Given the description of an element on the screen output the (x, y) to click on. 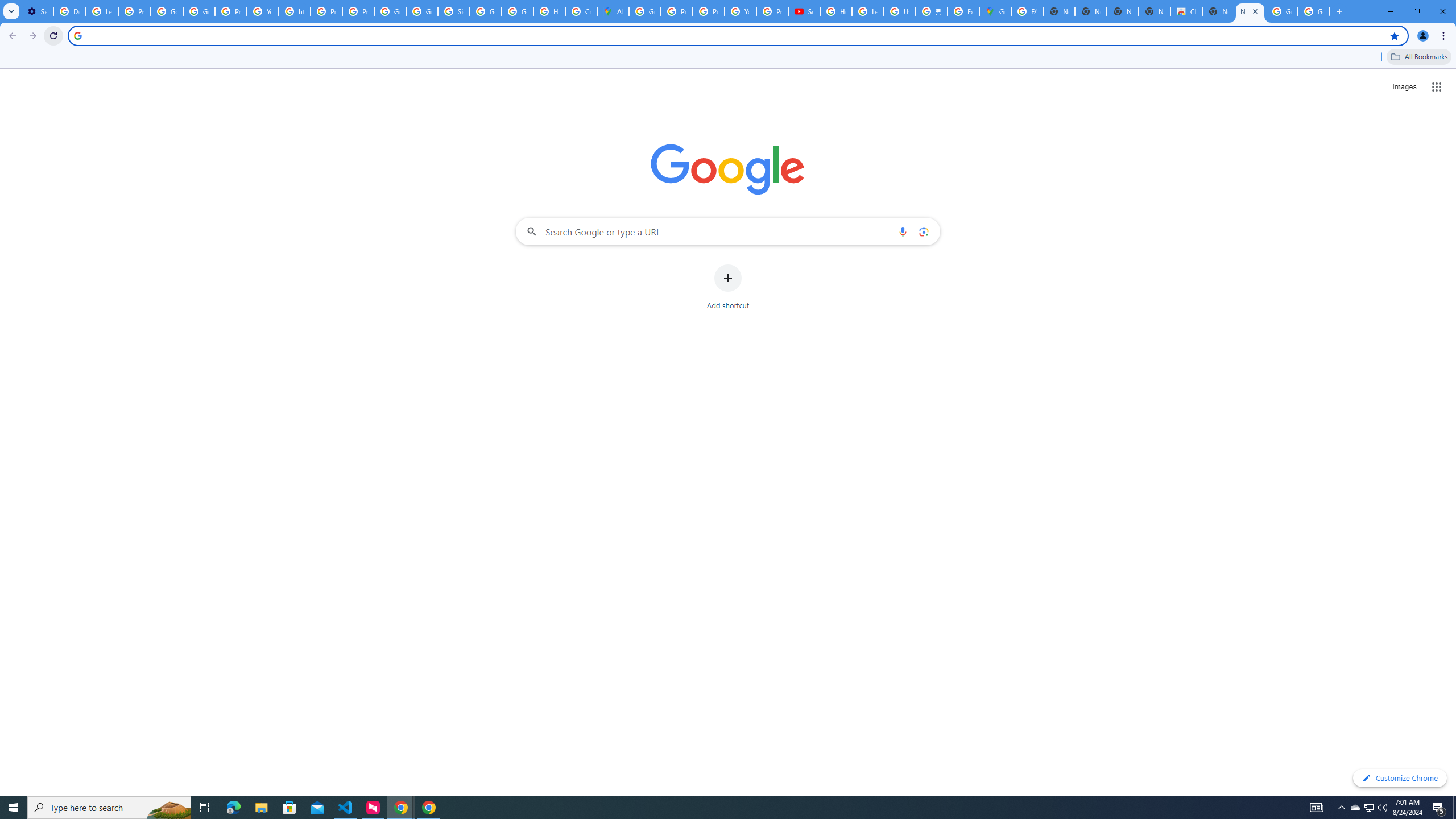
Customize Chrome (1399, 778)
New Tab (1217, 11)
YouTube (262, 11)
Subscriptions - YouTube (804, 11)
All Bookmarks (1418, 56)
Google Images (1313, 11)
Add shortcut (727, 287)
Privacy Help Center - Policies Help (326, 11)
Google Images (1281, 11)
